Given the description of an element on the screen output the (x, y) to click on. 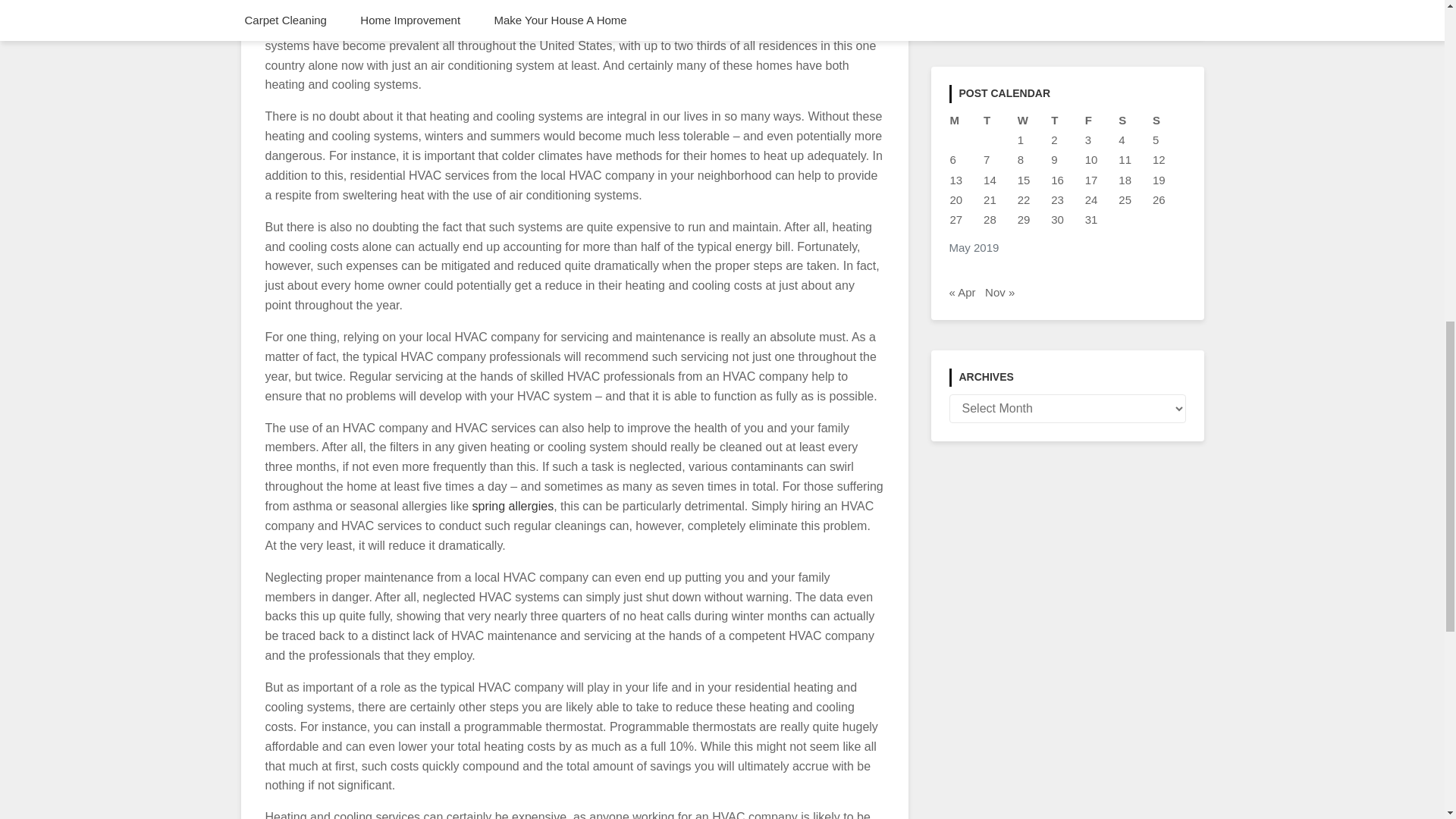
spring allergies (512, 505)
Sunday (1168, 120)
Tuesday (999, 120)
Thursday (1066, 120)
Wednesday (1033, 120)
Browse more (512, 505)
Friday (1101, 120)
Saturday (1134, 120)
3 Important Questions to Ask Residential Plumbers (1051, 4)
Monday (966, 120)
